Given the description of an element on the screen output the (x, y) to click on. 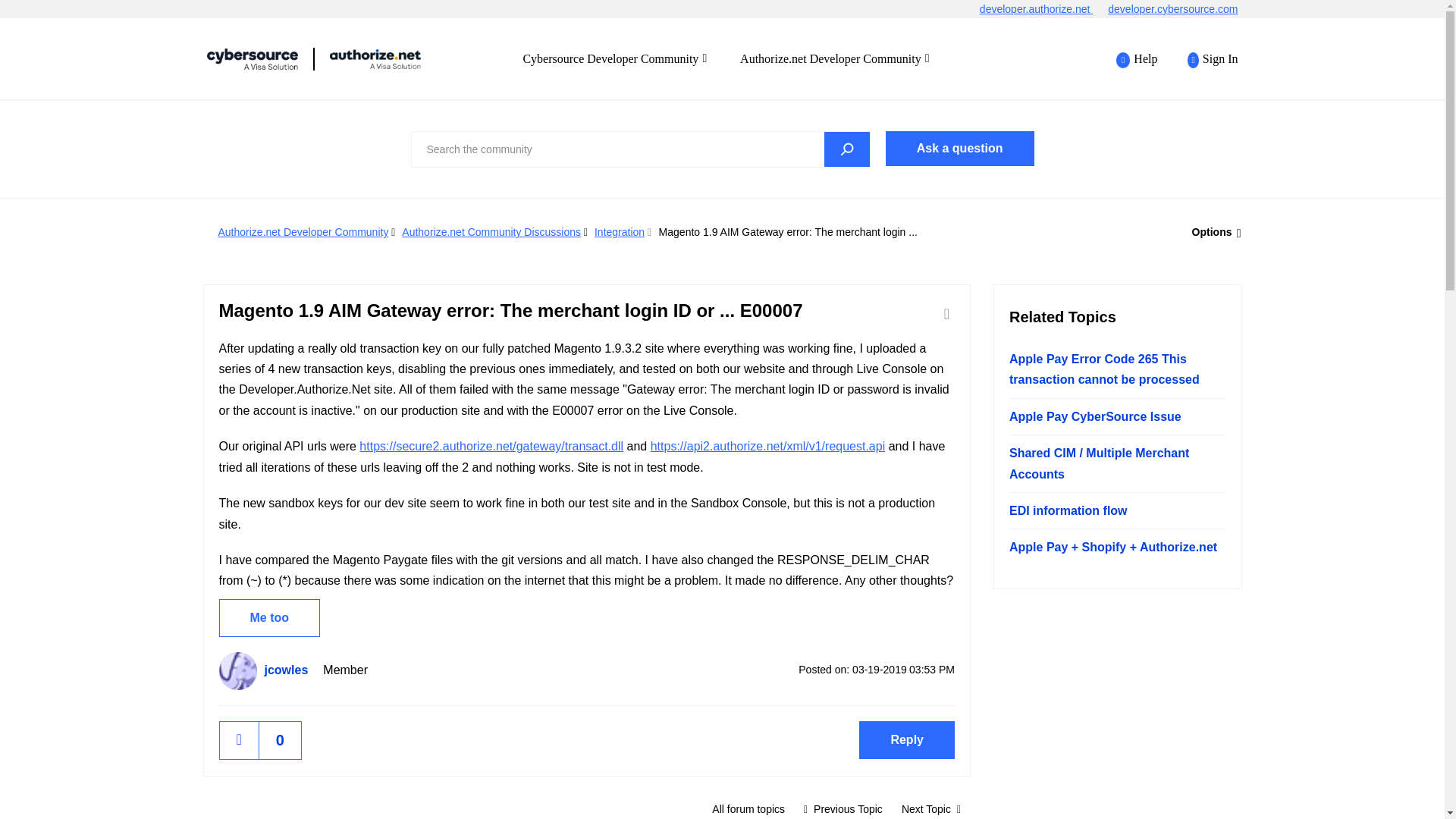
Search (640, 149)
Search (846, 149)
Click here to give kudos to this post. (239, 740)
Integration and Testing (747, 806)
Options (1211, 232)
Click here if you had a similar experience (269, 617)
jcowles (237, 670)
Sign In (1204, 58)
Search (846, 149)
developer.cybersource.com (1180, 9)
developer.authorize.net (1043, 9)
Cybersource Developer Community (614, 58)
Help (1136, 58)
Authorize.net Developer Community (834, 58)
Authorize.net Community Discussions (490, 232)
